Given the description of an element on the screen output the (x, y) to click on. 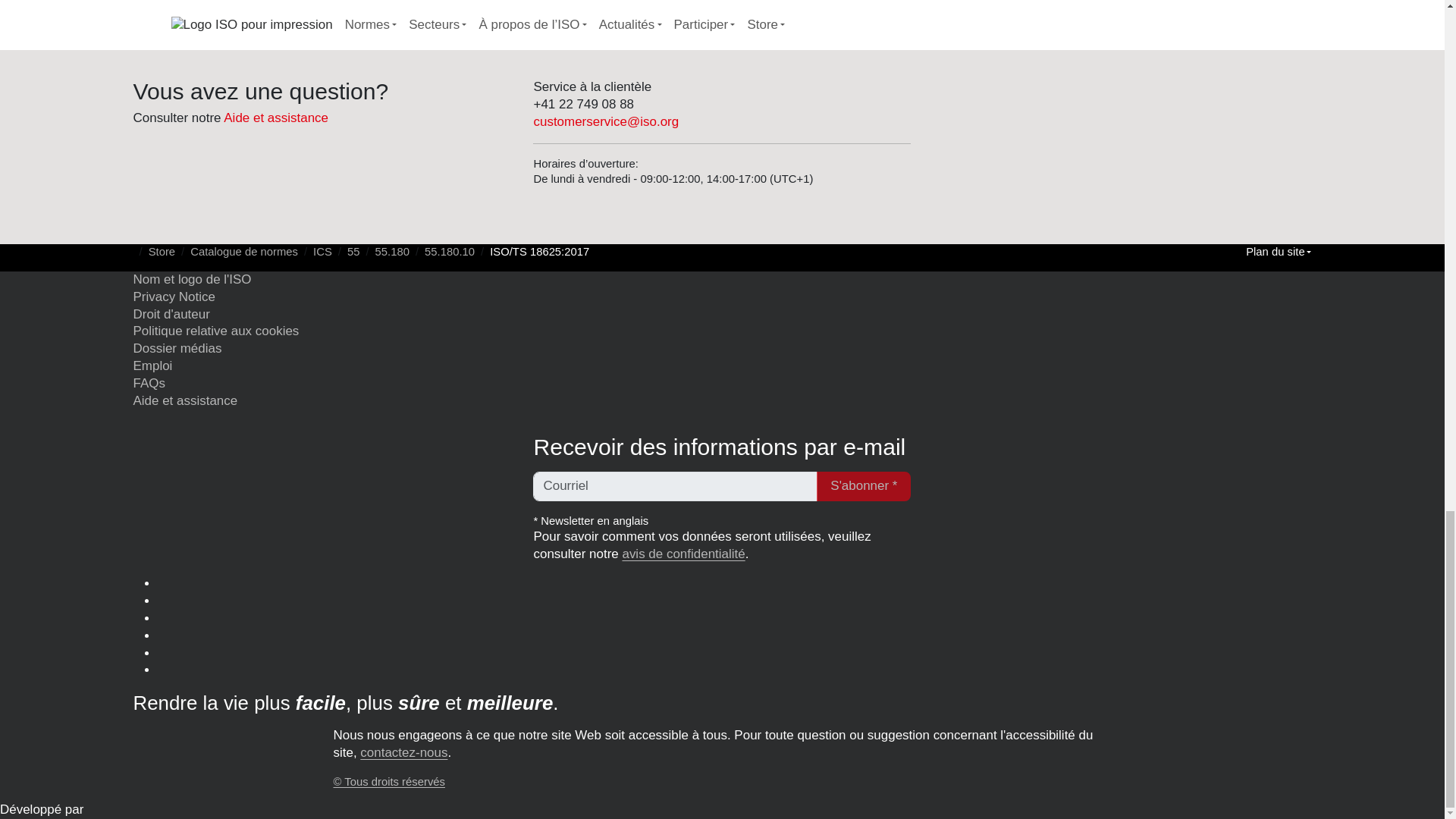
help-support (276, 117)
